Given the description of an element on the screen output the (x, y) to click on. 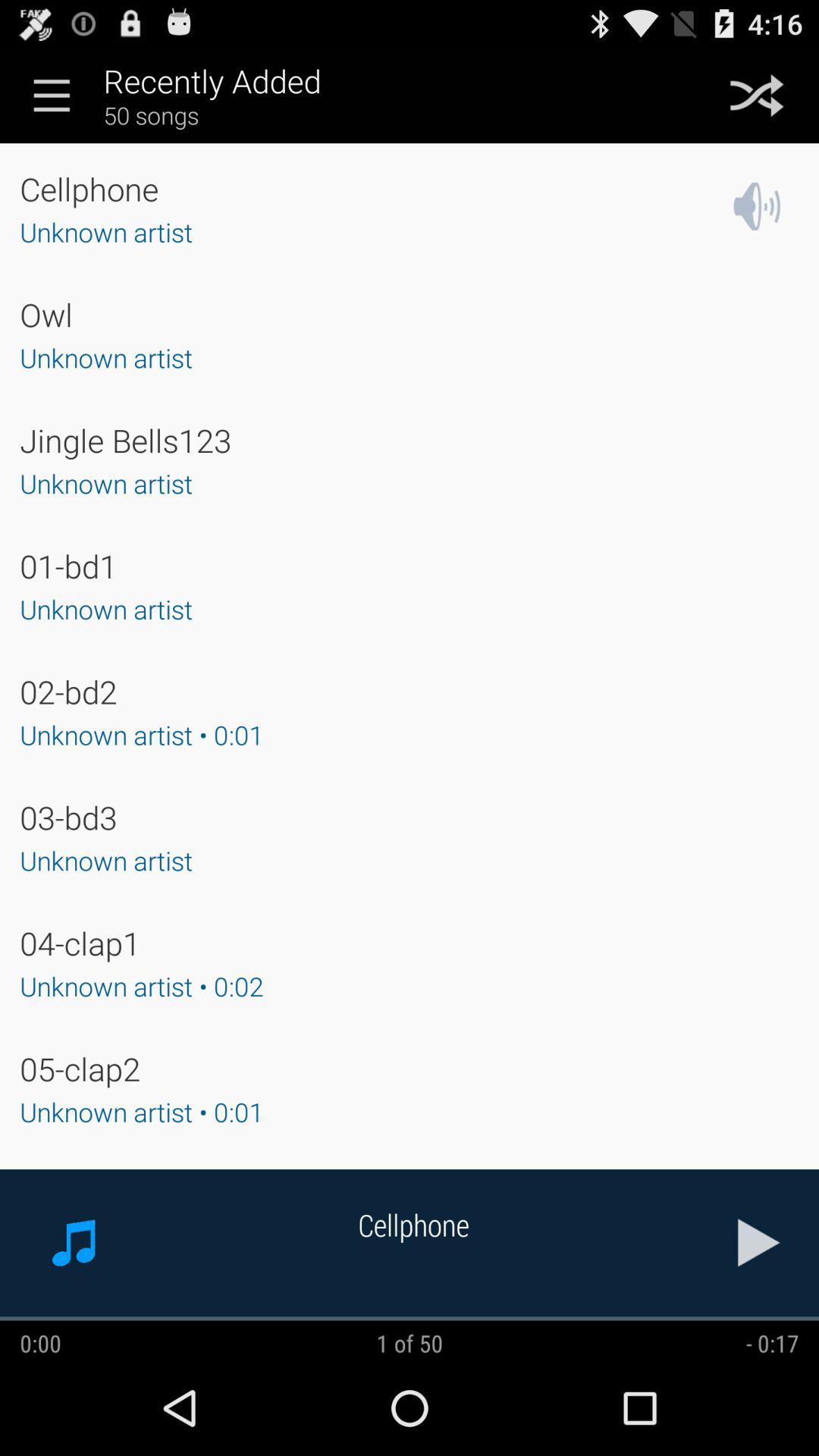
flip until owl app (45, 314)
